Given the description of an element on the screen output the (x, y) to click on. 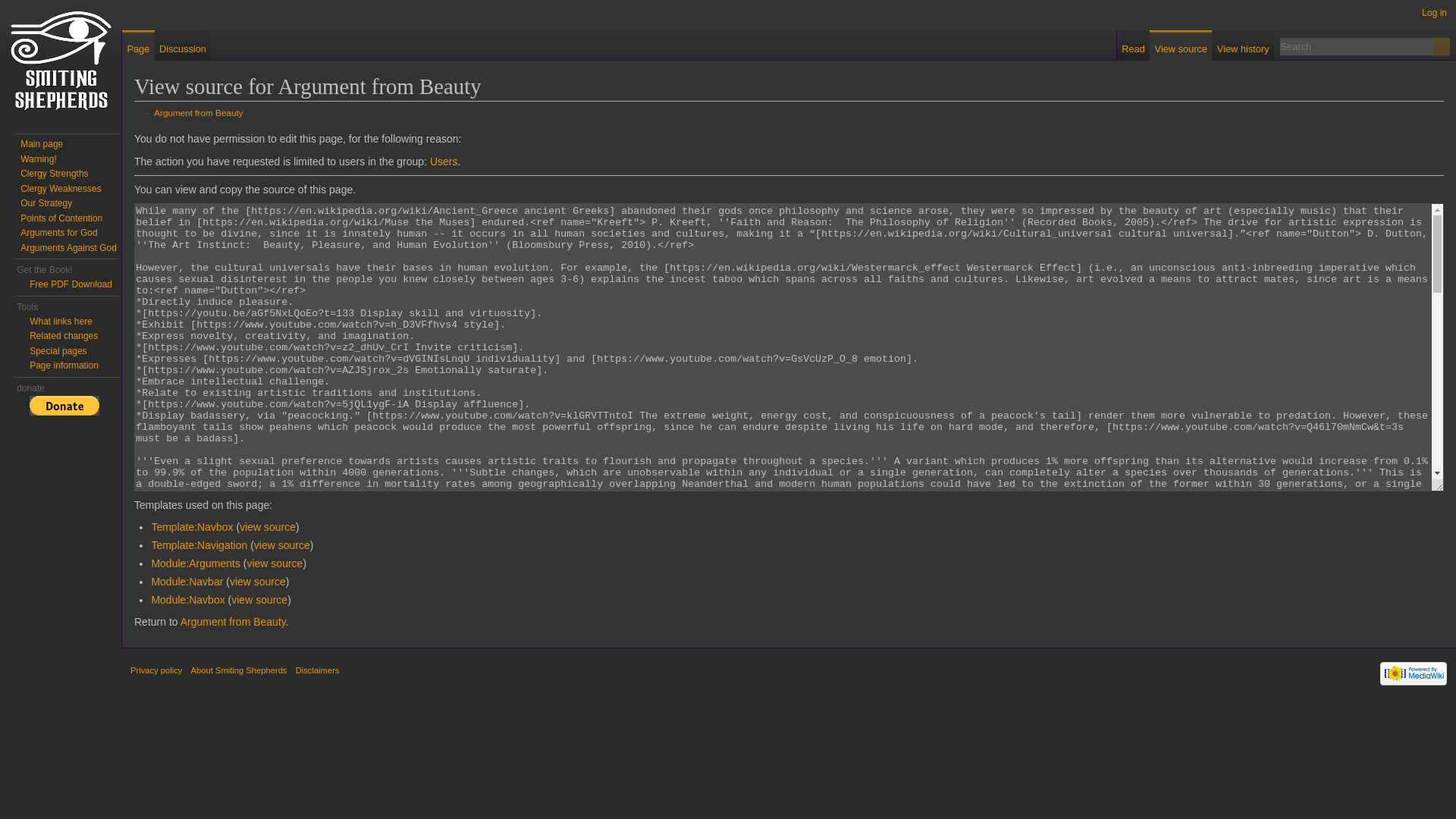
Clergy Strengths (53, 173)
Template:Navbox (267, 526)
Related changes (63, 335)
Log in (1434, 12)
Clergy Weaknesses (60, 188)
view source (258, 599)
Module:Navbar (186, 581)
Template:Navigation (281, 544)
Template:Navbox (191, 526)
view source (267, 526)
Special pages (57, 350)
Arguments for God (58, 232)
Module:Arguments (195, 563)
Go (1441, 45)
Warning! (38, 158)
